Given the description of an element on the screen output the (x, y) to click on. 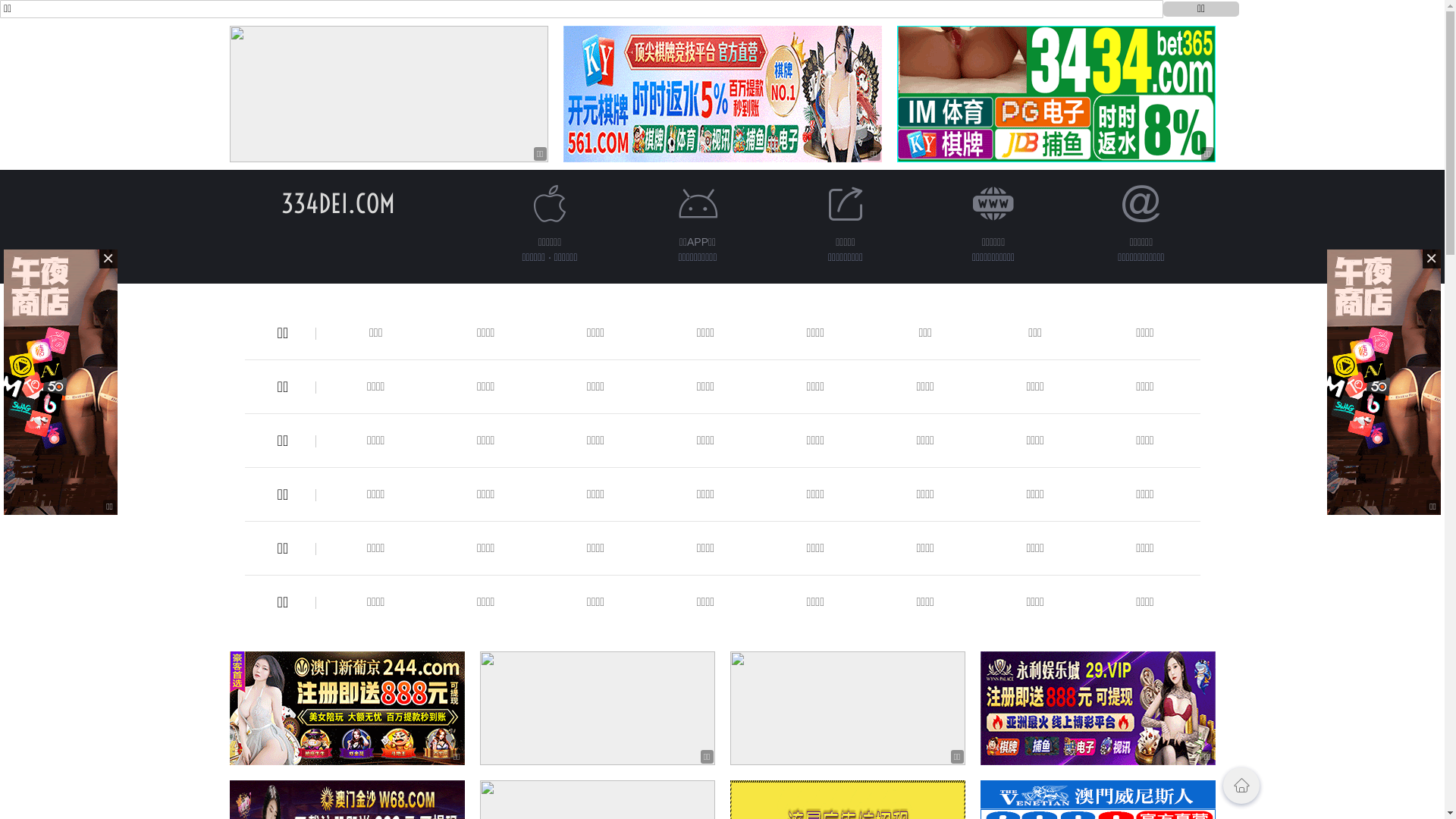
334DEI.COM Element type: text (337, 203)
